Given the description of an element on the screen output the (x, y) to click on. 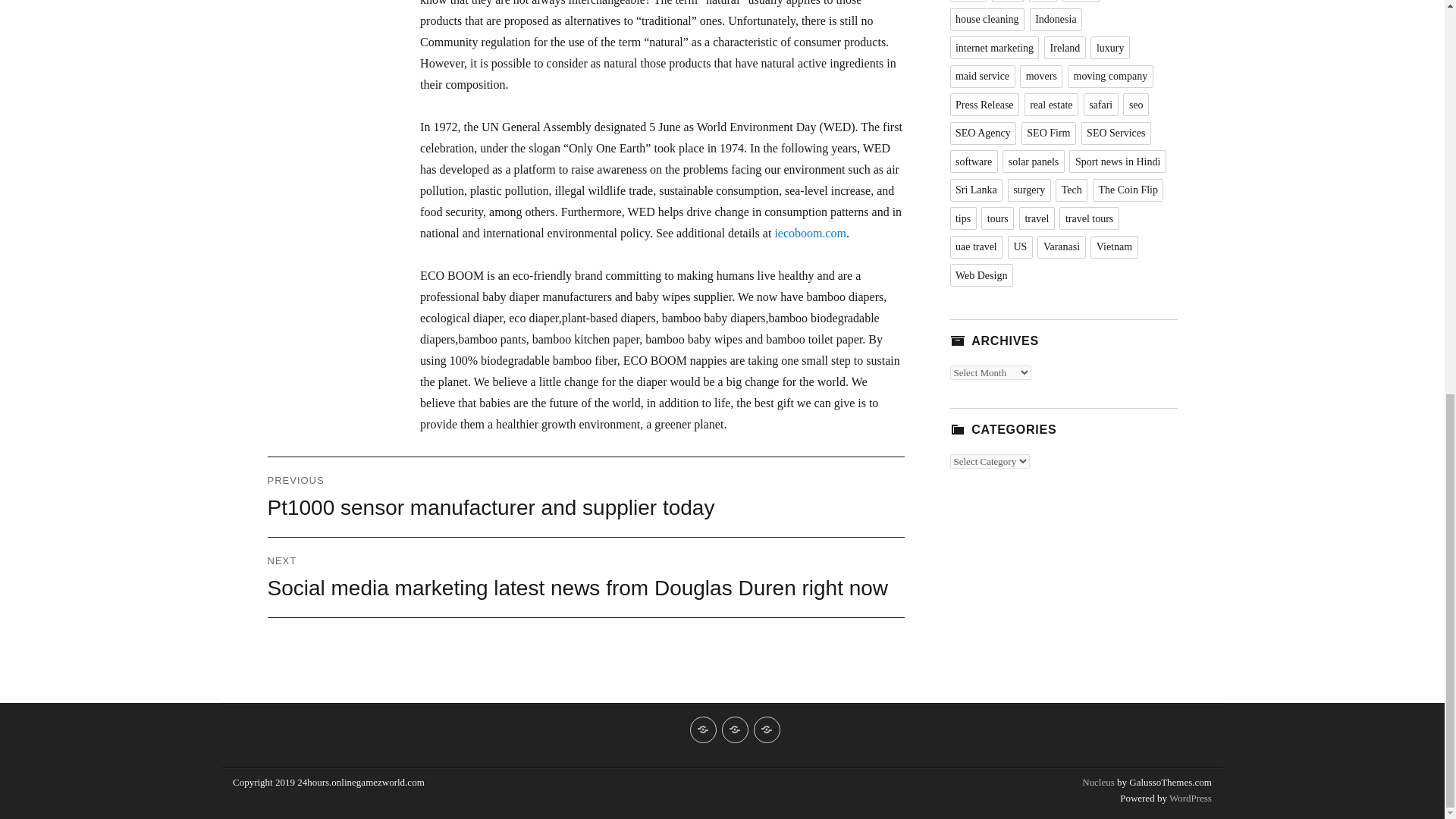
health (1080, 1)
Game (967, 1)
iecoboom.com (809, 232)
Indonesia (1055, 19)
GBL (1008, 1)
Semantic Personal Publishing Platform (1189, 797)
hair (1043, 1)
house cleaning (987, 19)
internet marketing (994, 47)
